Given the description of an element on the screen output the (x, y) to click on. 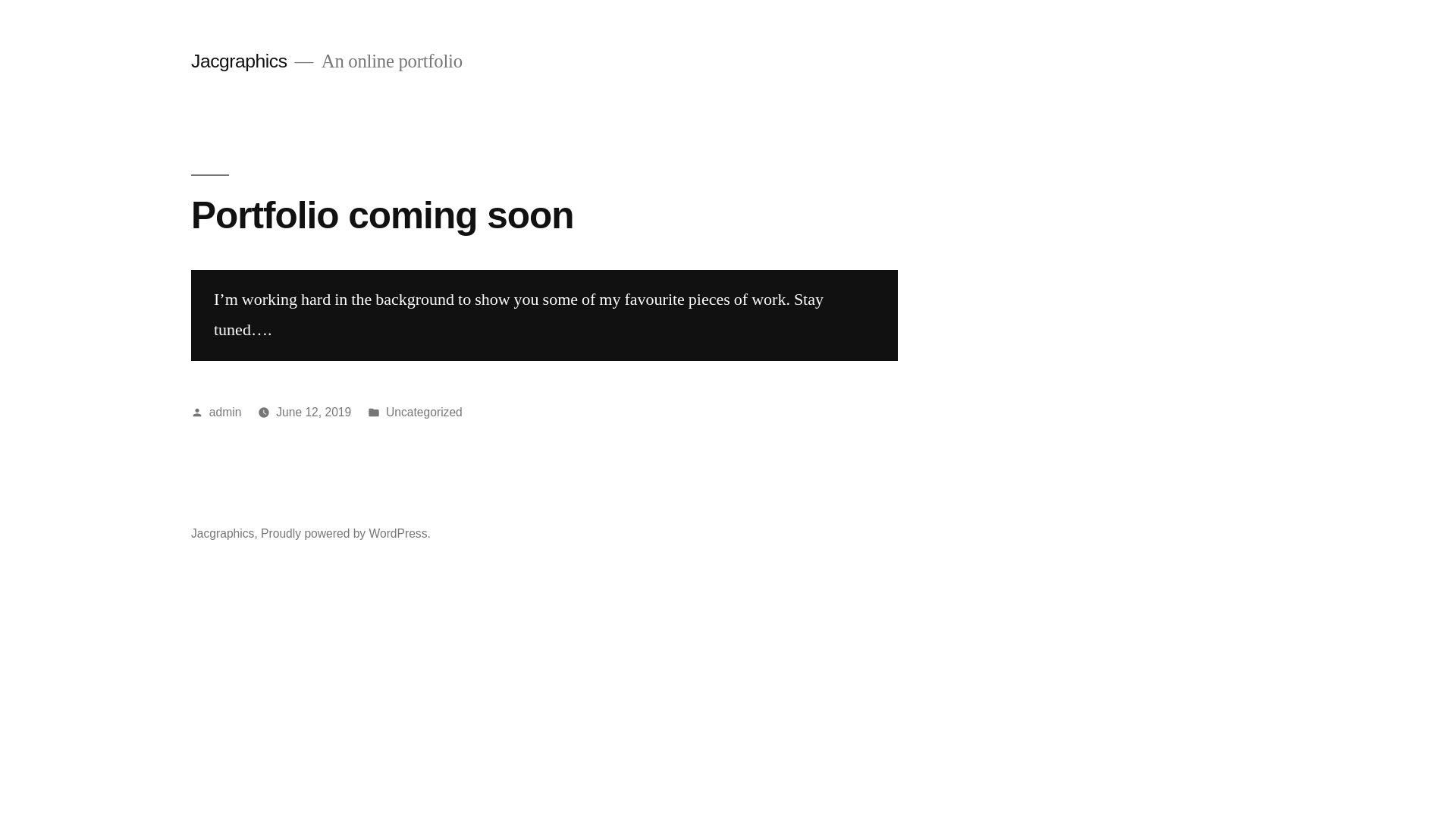
Uncategorized Element type: text (423, 411)
admin Element type: text (225, 411)
Proudly powered by WordPress. Element type: text (345, 533)
June 12, 2019 Element type: text (313, 411)
Jacgraphics Element type: text (239, 60)
Portfolio coming soon Element type: text (382, 214)
Jacgraphics Element type: text (222, 533)
